Given the description of an element on the screen output the (x, y) to click on. 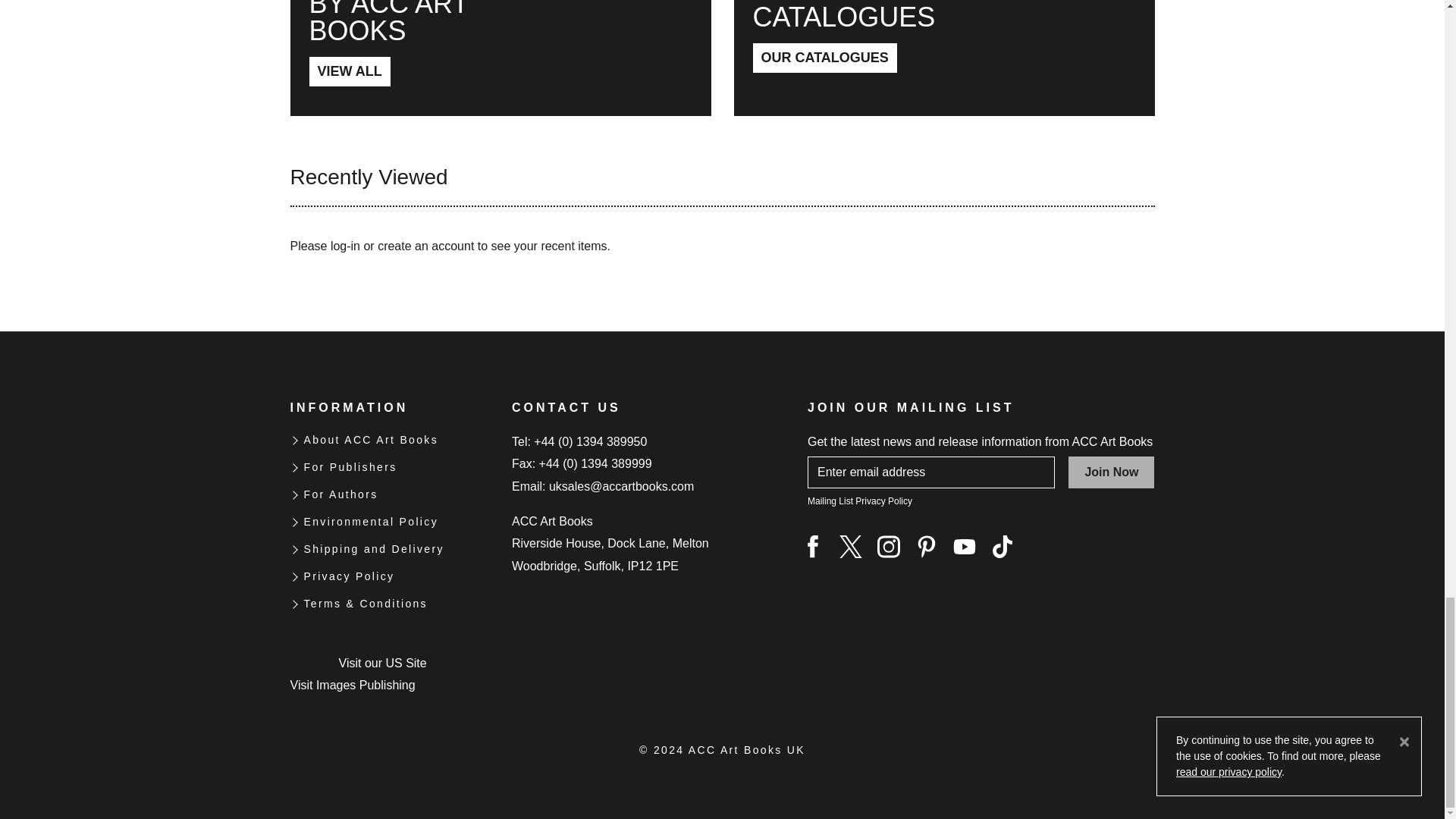
Join Now (1111, 472)
